Given the description of an element on the screen output the (x, y) to click on. 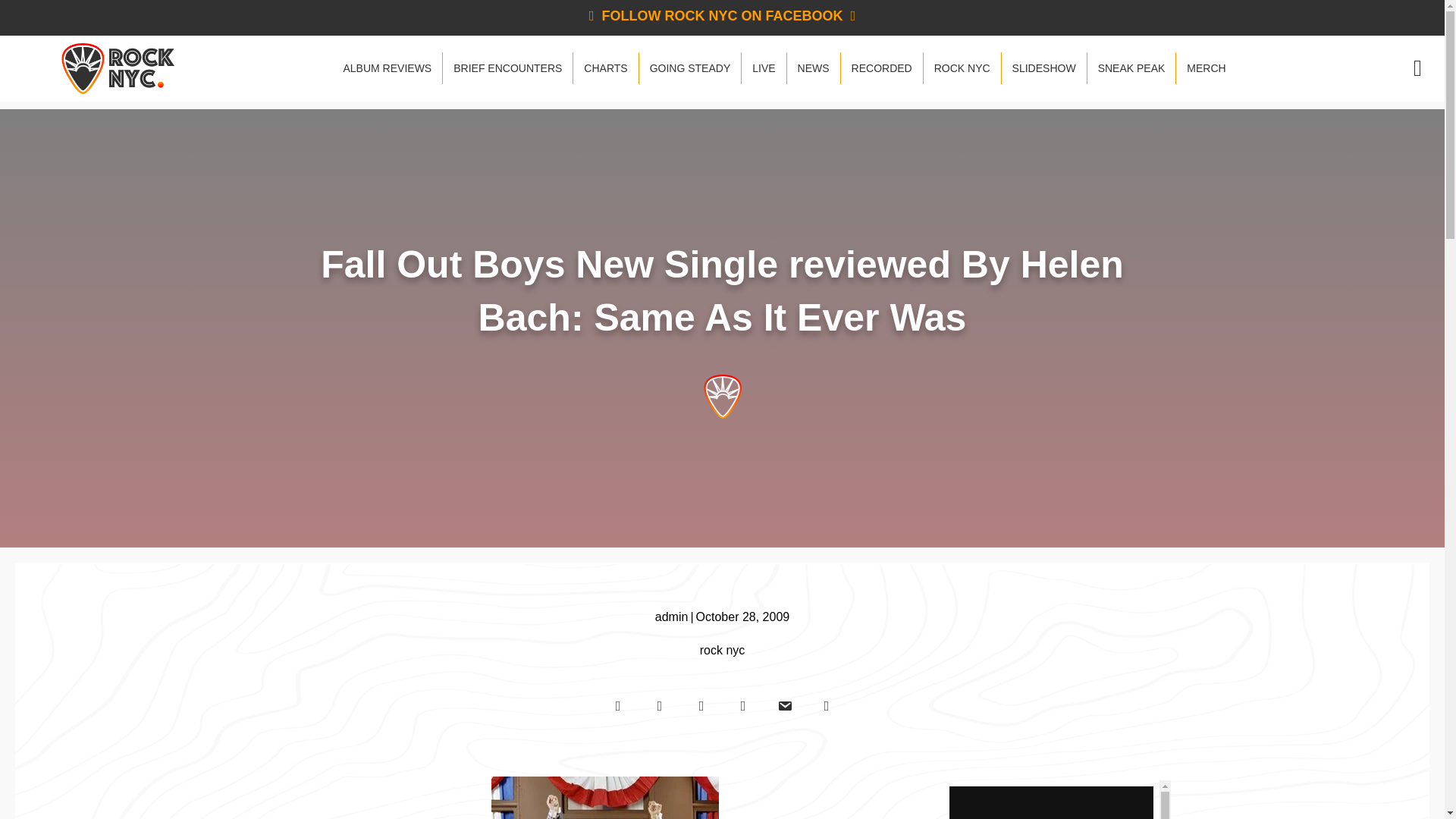
NEWS (813, 68)
RECORDED (882, 68)
CHARTS (605, 68)
 FOLLOW ROCK NYC ON FACEBOOK   (722, 15)
ROCK NYC (962, 68)
MERCH (1206, 68)
rock nyc (722, 649)
LIVE (763, 68)
BRIEF ENCOUNTERS (507, 68)
GOING STEADY (690, 68)
SNEAK PEAK (1131, 68)
ALBUM REVIEWS (386, 68)
admin (671, 616)
SLIDESHOW (1043, 68)
